Given the description of an element on the screen output the (x, y) to click on. 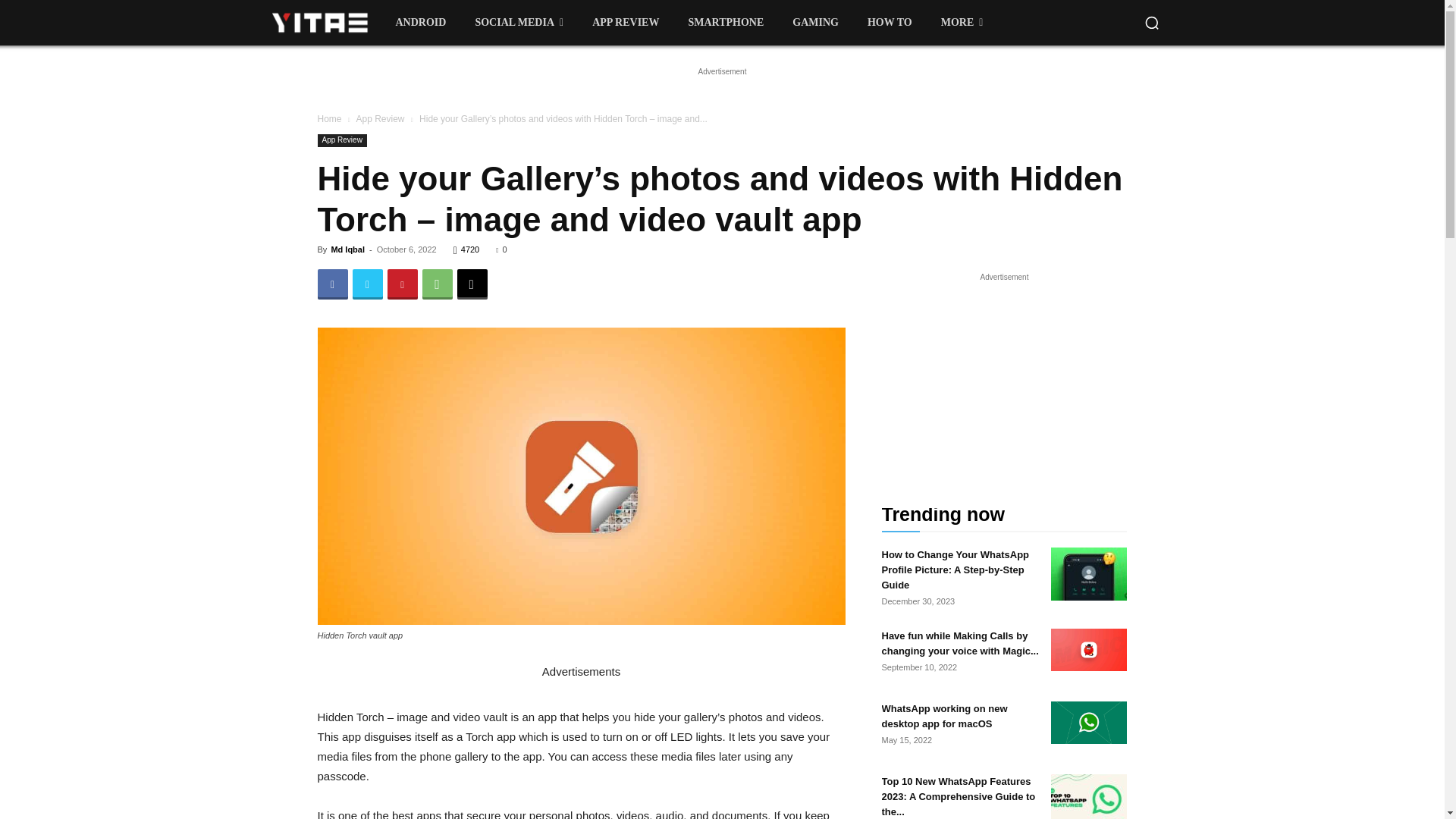
SOCIAL MEDIA (518, 22)
Twitter (366, 284)
SMARTPHONE (725, 22)
View all posts in App Review (379, 118)
ANDROID (421, 22)
Yitake (318, 21)
GAMING (814, 22)
HOW TO (890, 22)
MORE (962, 22)
Facebook (332, 284)
APP REVIEW (624, 22)
